Given the description of an element on the screen output the (x, y) to click on. 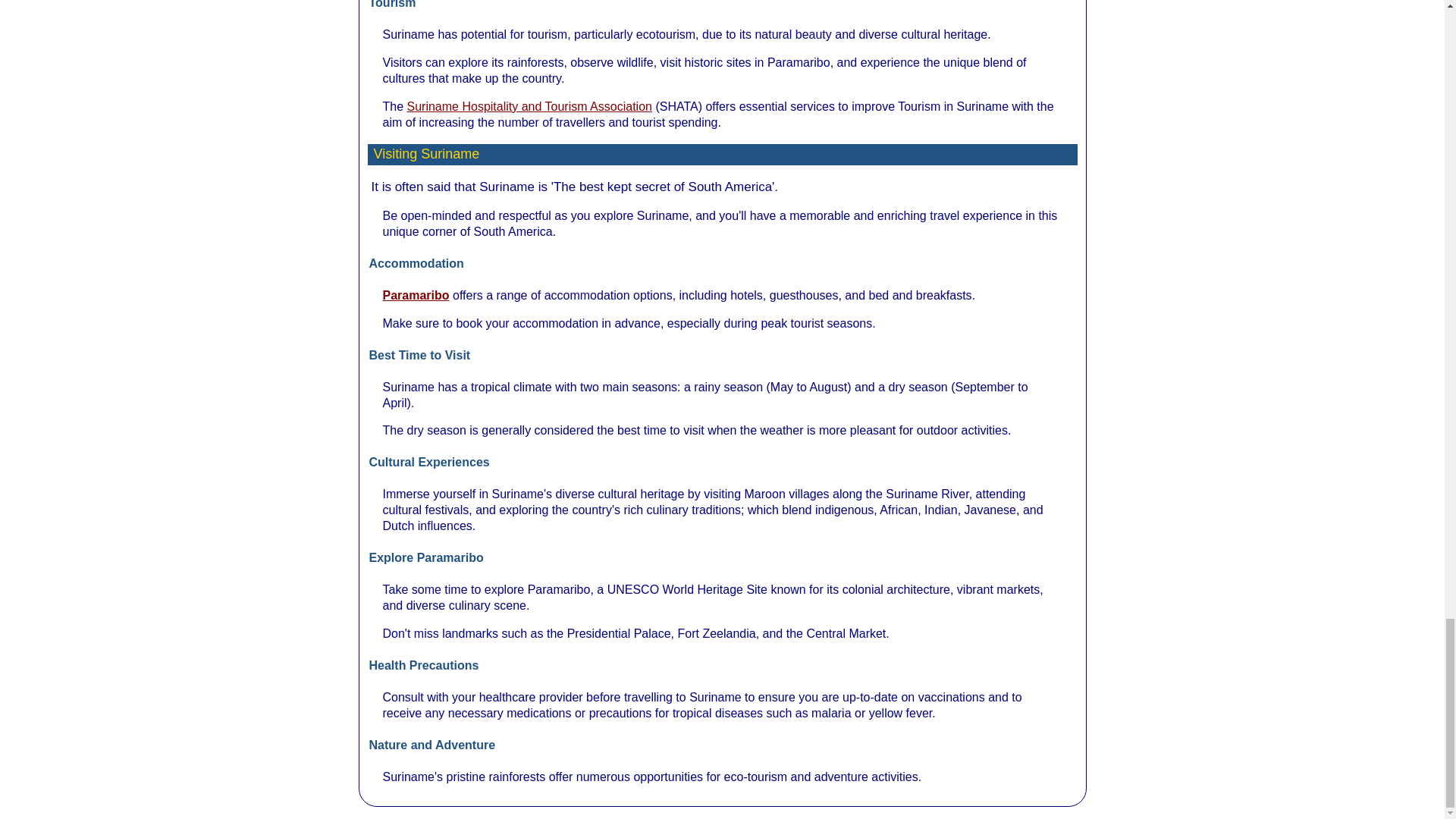
Paramaribo (414, 295)
Suriname Hospitality and Tourism Association (529, 106)
